Given the description of an element on the screen output the (x, y) to click on. 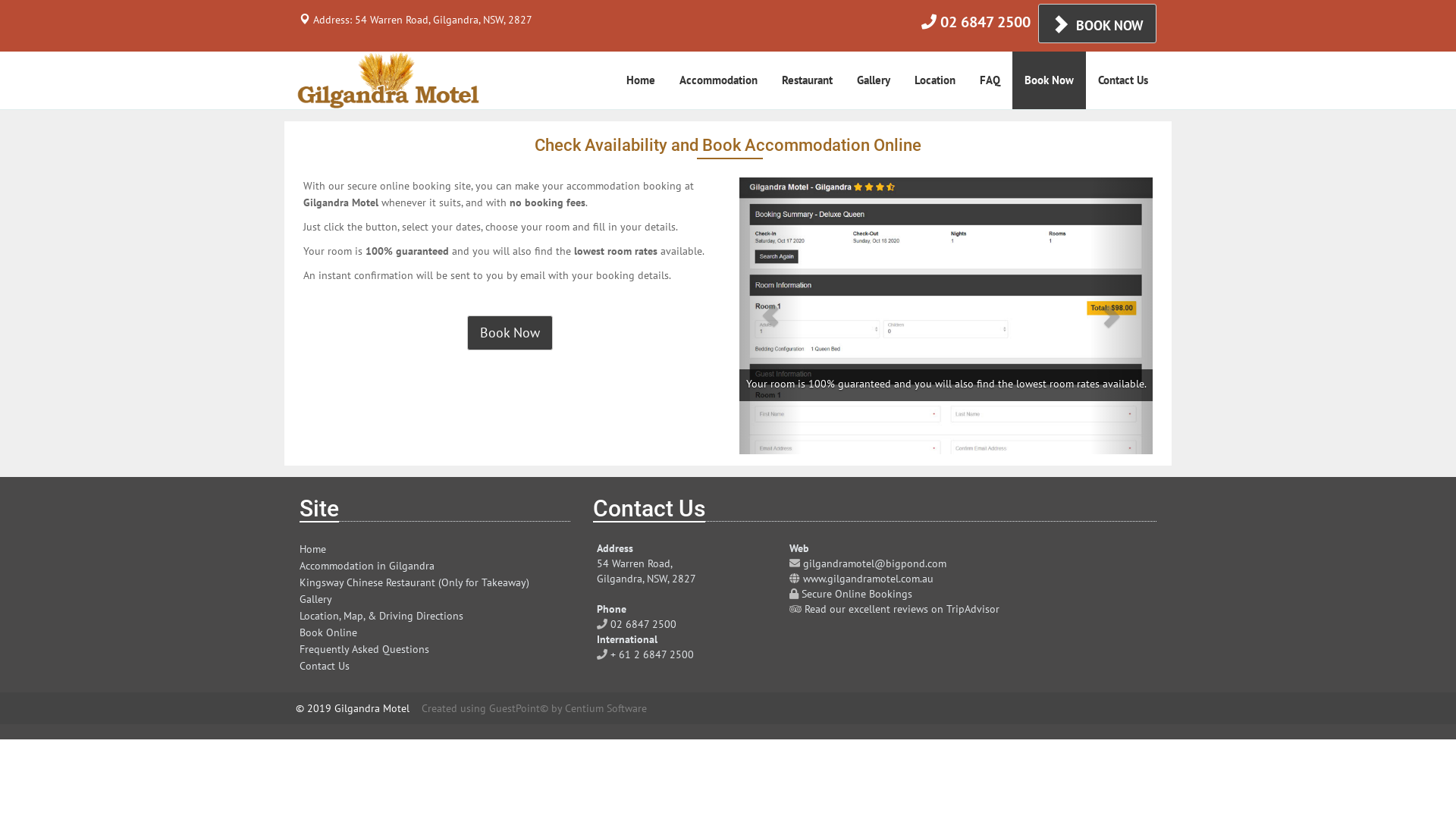
gilgandramotel@bigpond.com Element type: text (874, 563)
www.gilgandramotel.com.au Element type: text (868, 578)
Accommodation in Gilgandra Element type: text (366, 565)
FAQ Element type: text (989, 80)
Contact Us Element type: text (1122, 80)
Gallery Element type: text (315, 598)
Read our excellent reviews on TripAdvisor Element type: text (901, 608)
Frequently Asked Questions Element type: text (364, 648)
Gallery Element type: text (873, 80)
Boomerang | One template. Infinite solutions Element type: hover (388, 81)
Location, Map, & Driving Directions Element type: text (381, 615)
Book Now Element type: text (1048, 80)
Home Element type: text (312, 548)
Contact Us Element type: text (324, 665)
Home Element type: text (640, 80)
Book Now Element type: text (509, 332)
Restaurant Element type: text (806, 80)
Book Online Element type: text (328, 632)
  Element type: text (1121, 315)
Location Element type: text (934, 80)
Secure Online Bookings Element type: text (856, 593)
02 6847 2500 Element type: text (985, 21)
BOOK NOW Element type: text (1097, 23)
Accommodation Element type: text (718, 80)
Kingsway Chinese Restaurant (Only for Takeaway) Element type: text (414, 582)
